Given the description of an element on the screen output the (x, y) to click on. 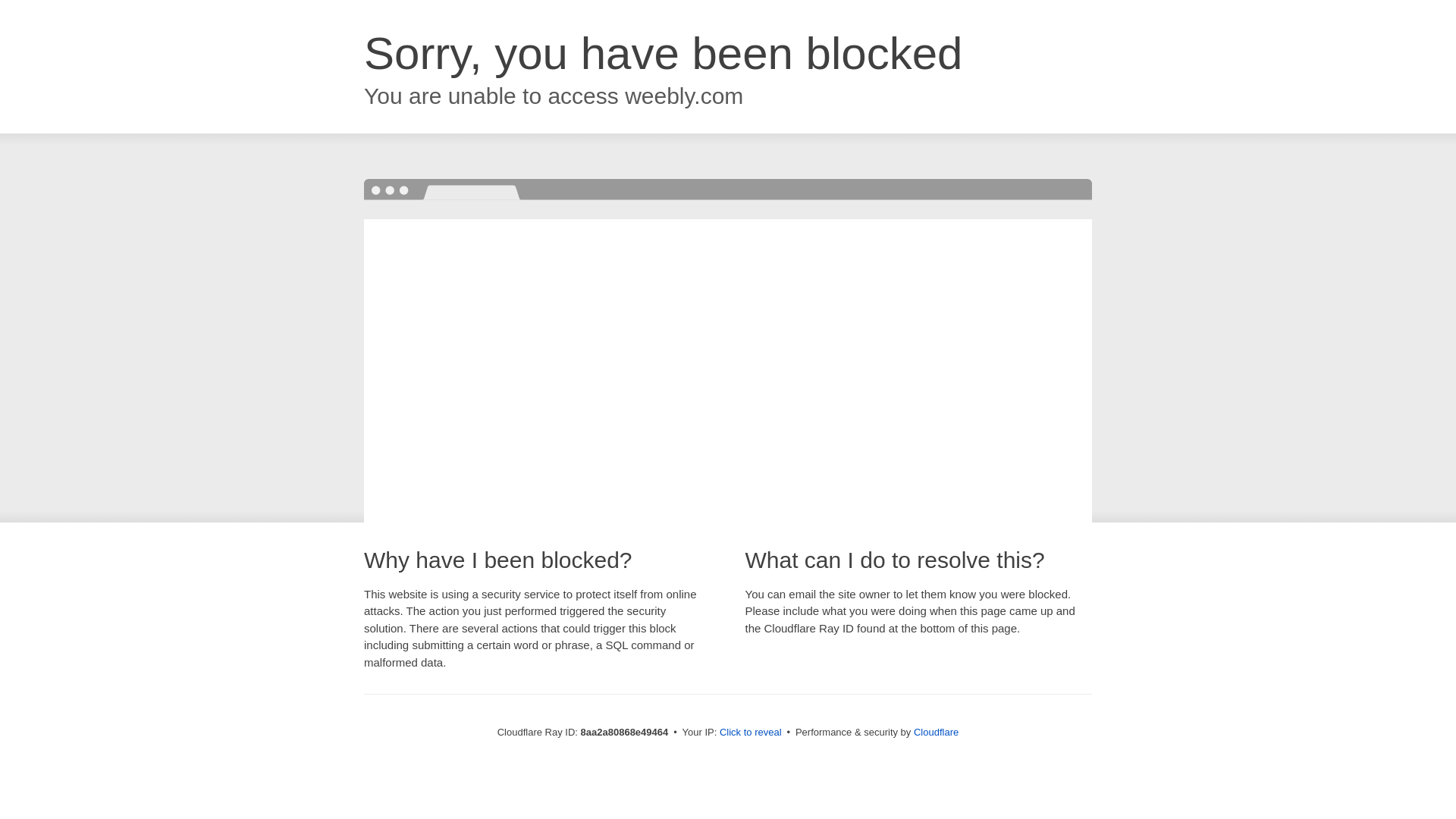
Cloudflare (936, 731)
Click to reveal (750, 732)
